Given the description of an element on the screen output the (x, y) to click on. 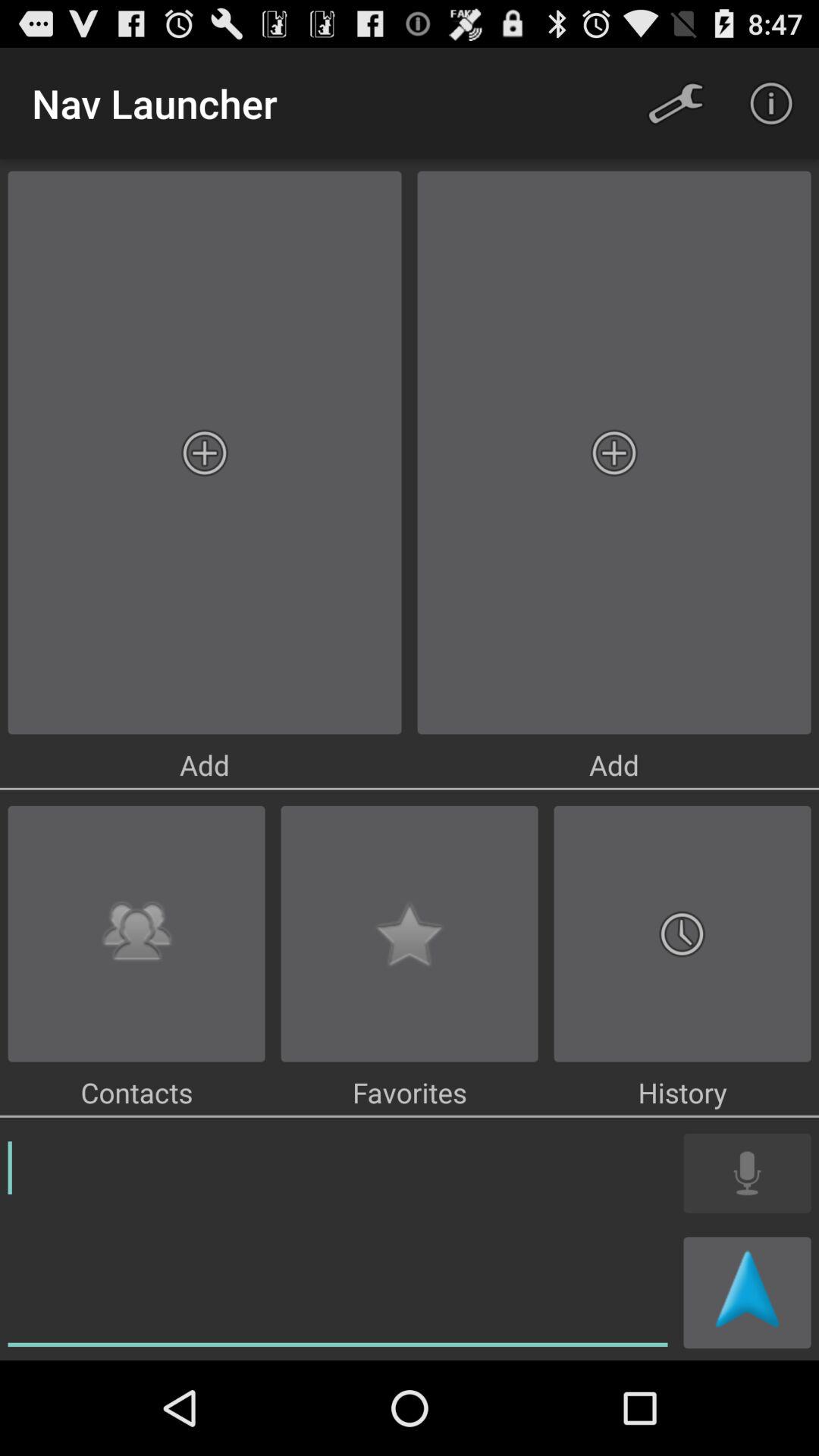
enter address (337, 1240)
